Given the description of an element on the screen output the (x, y) to click on. 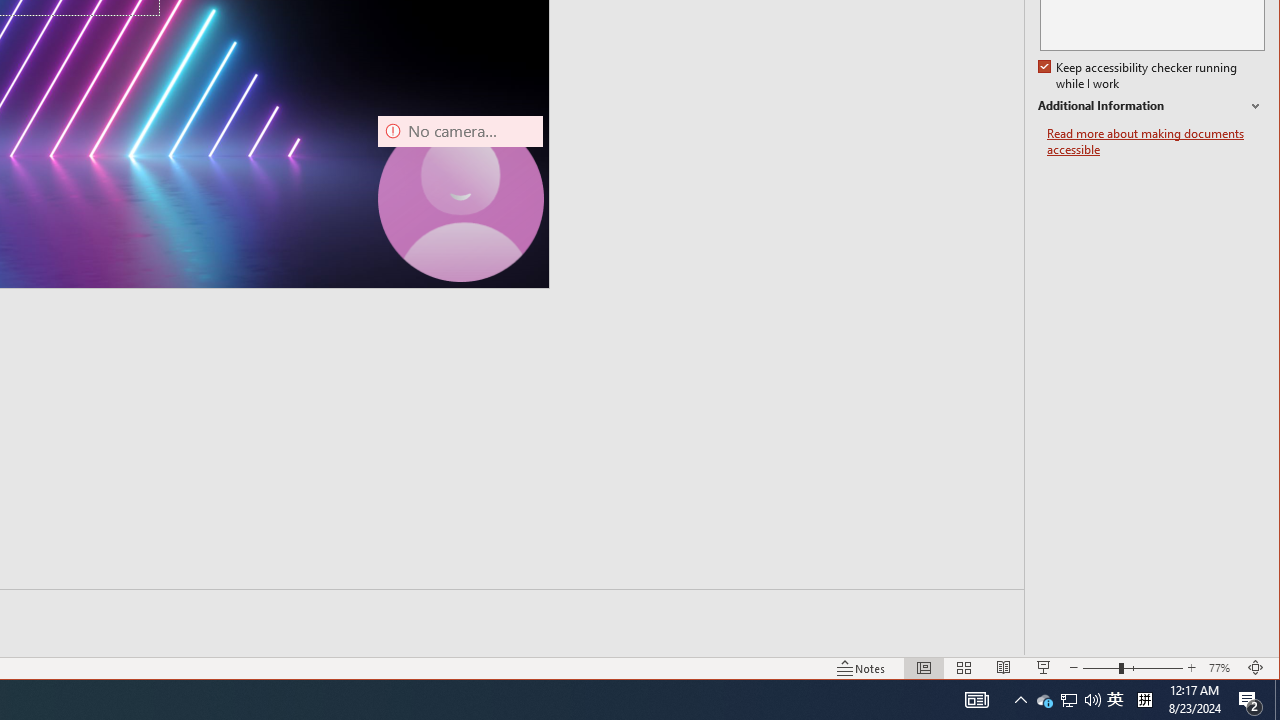
Read more about making documents accessible (1155, 142)
Camera 7, No camera detected. (1044, 699)
